Given the description of an element on the screen output the (x, y) to click on. 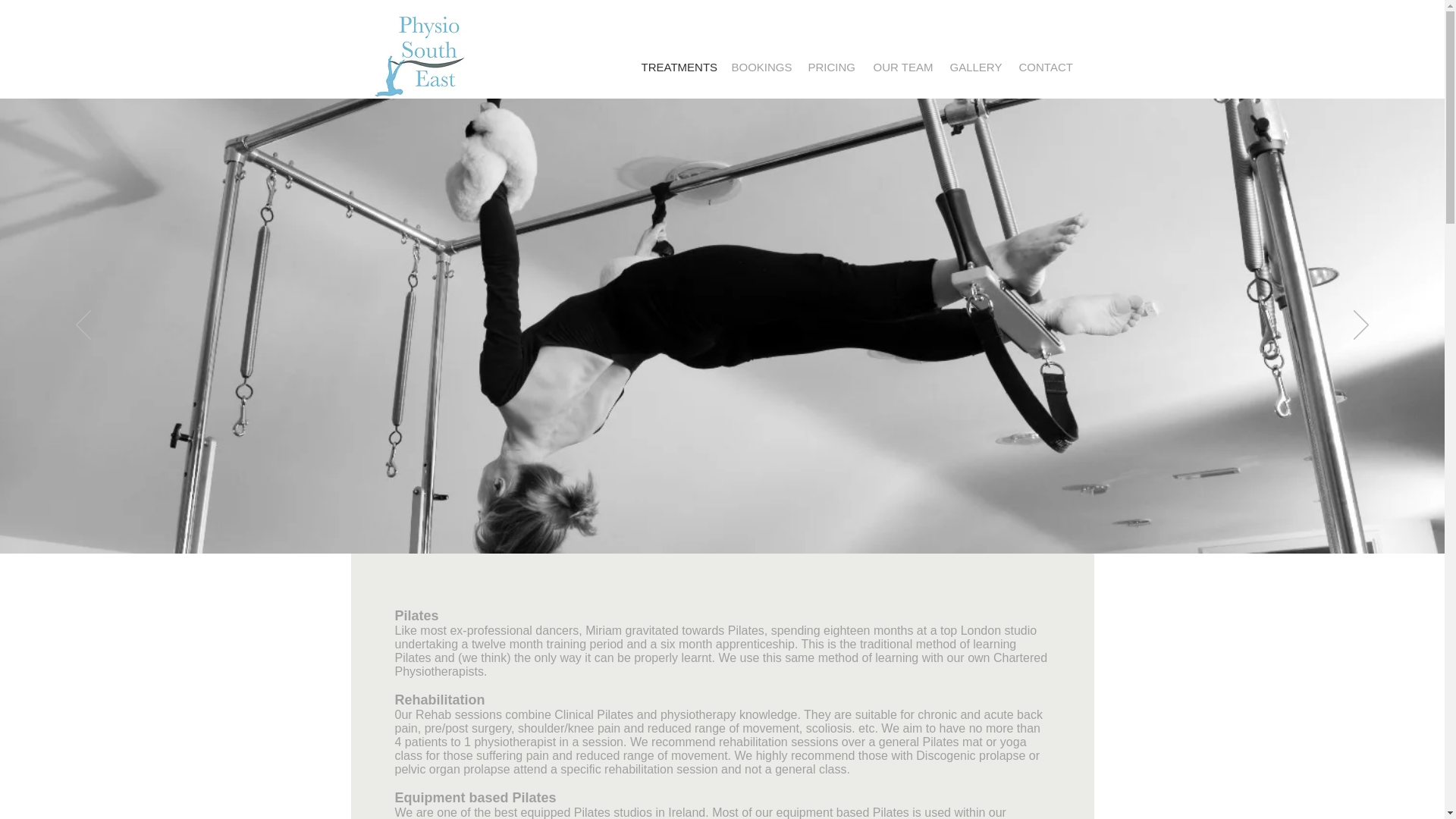
CONTACT (1041, 67)
GALLERY (973, 67)
TREATMENTS (673, 67)
BOOKINGS (758, 67)
PRICING (828, 67)
OUR TEAM (899, 67)
